Given the description of an element on the screen output the (x, y) to click on. 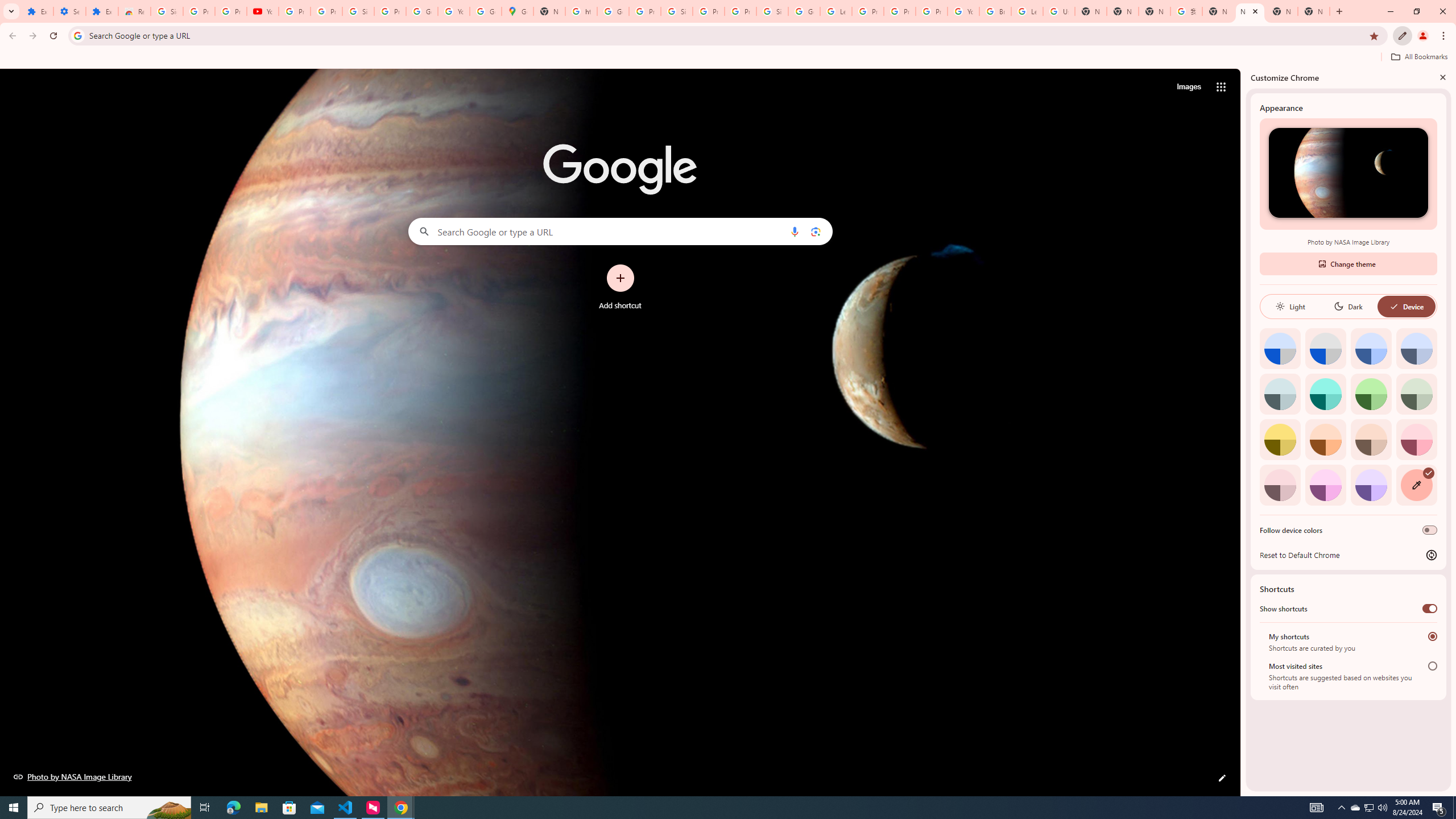
Change theme (1348, 263)
Pink (1279, 484)
Side Panel Resize Handle (1242, 431)
Bookmarks (728, 58)
Extensions (101, 11)
YouTube (262, 11)
Default color (1279, 348)
Grey default color (1325, 348)
